Given the description of an element on the screen output the (x, y) to click on. 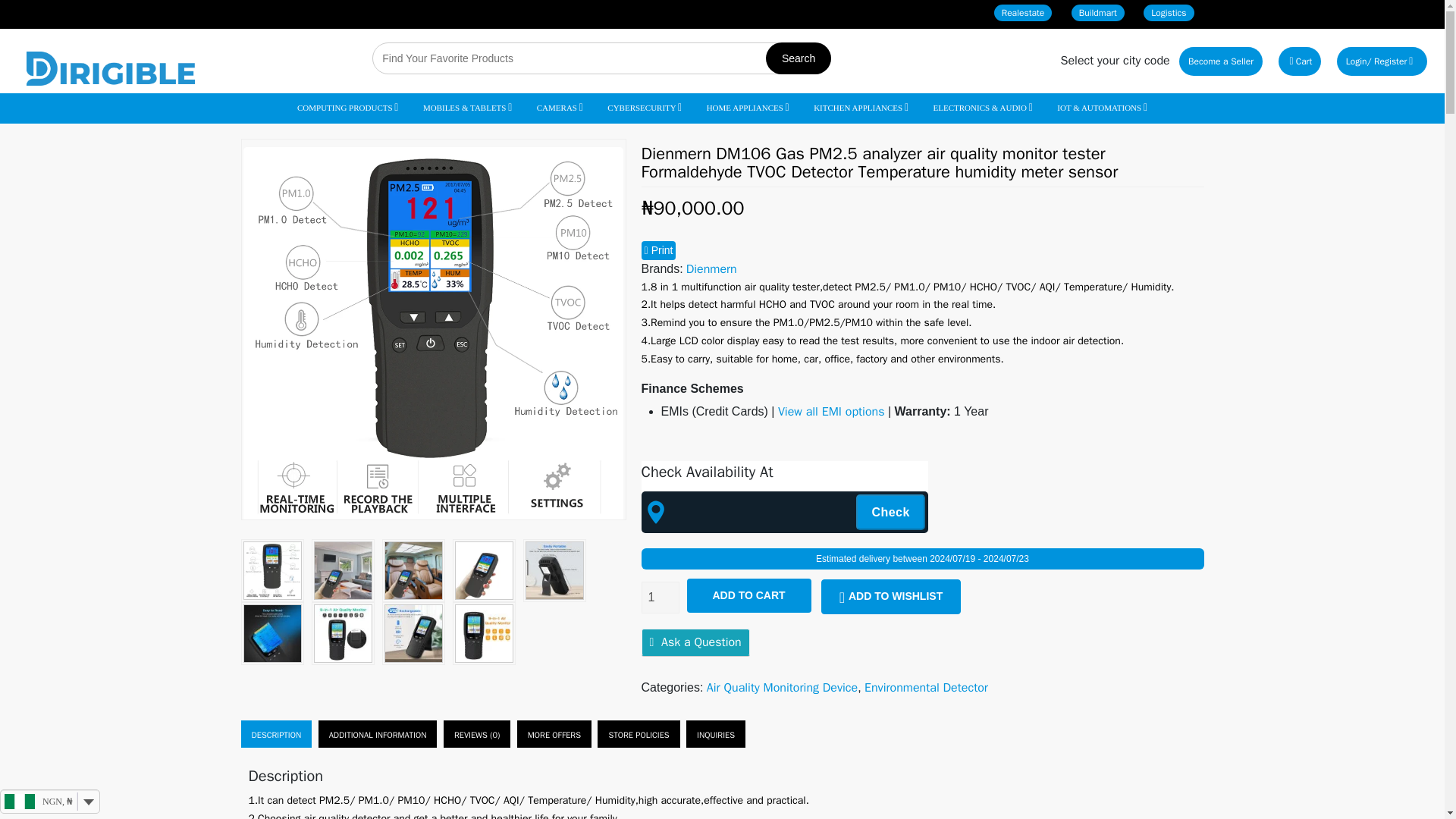
Register  (1396, 60)
Dirigible (110, 68)
Qty (660, 597)
Search (798, 58)
Search (798, 58)
Realestate (1023, 12)
Become a Seller (1220, 61)
Logistics (1167, 12)
Select your city code (1115, 60)
Check (890, 511)
Search (798, 58)
Cart (1300, 61)
View brand (710, 268)
1 (660, 597)
